Given the description of an element on the screen output the (x, y) to click on. 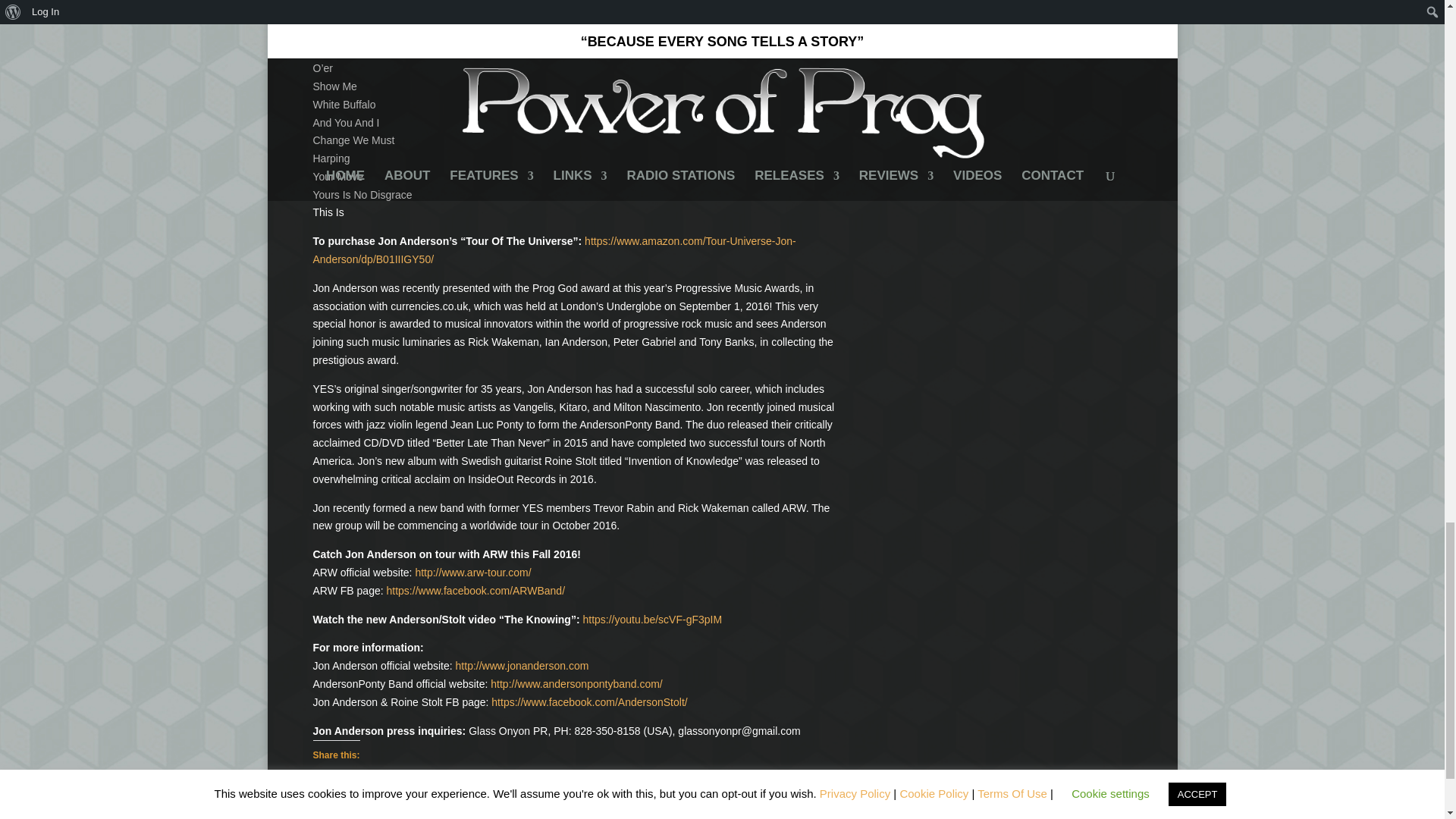
Share on Tumblr (410, 784)
